Given the description of an element on the screen output the (x, y) to click on. 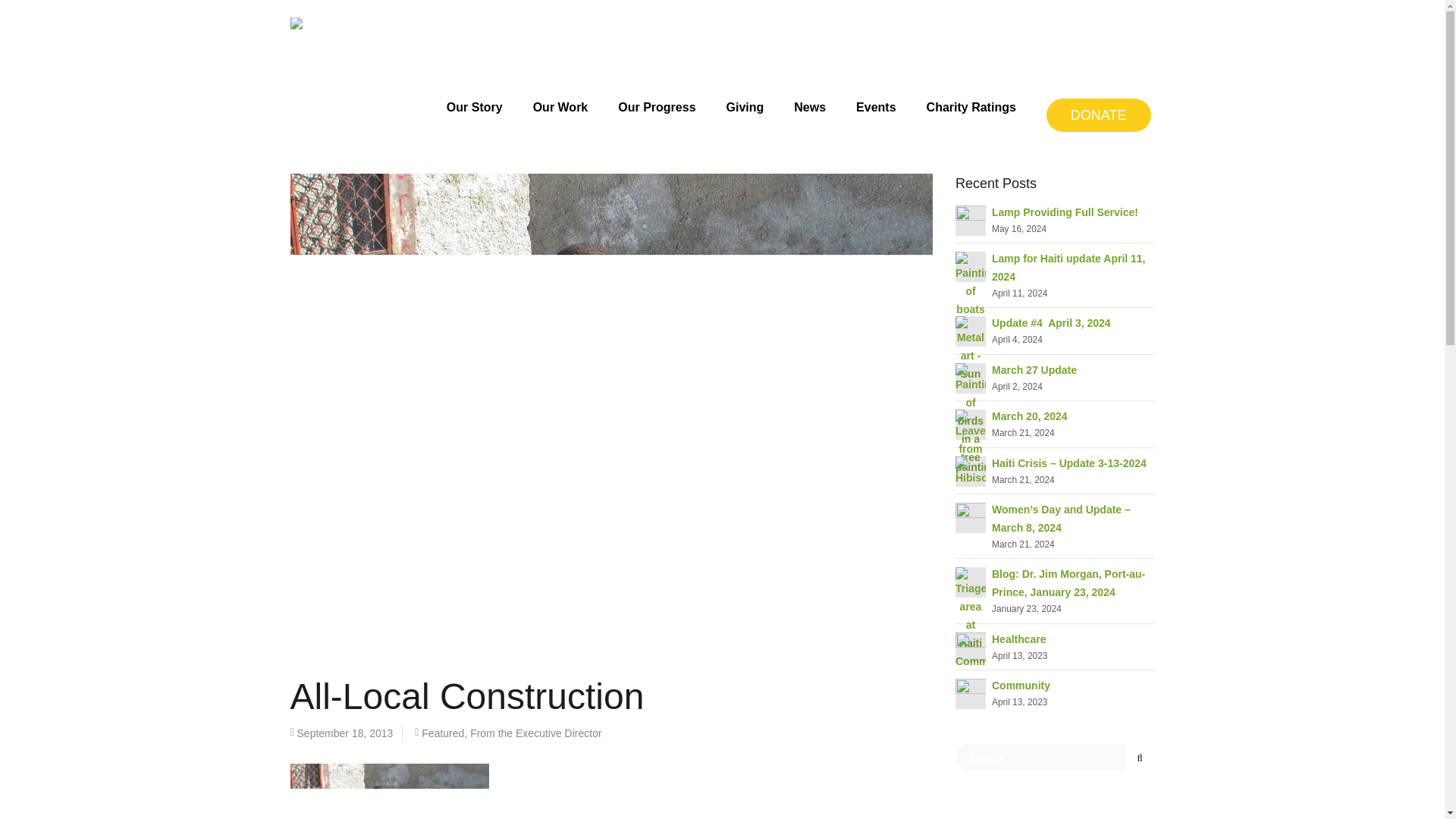
March 27 Update (970, 413)
From the Executive Director (536, 733)
March 20, 2024 (970, 441)
Giving (744, 93)
Lamp Providing Full Service! (1064, 212)
Charity Ratings (970, 93)
Our Work (561, 93)
DONATE (1098, 114)
March 20, 2024 (1029, 416)
Lamp for Haiti update April 11, 2024 (970, 284)
